Given the description of an element on the screen output the (x, y) to click on. 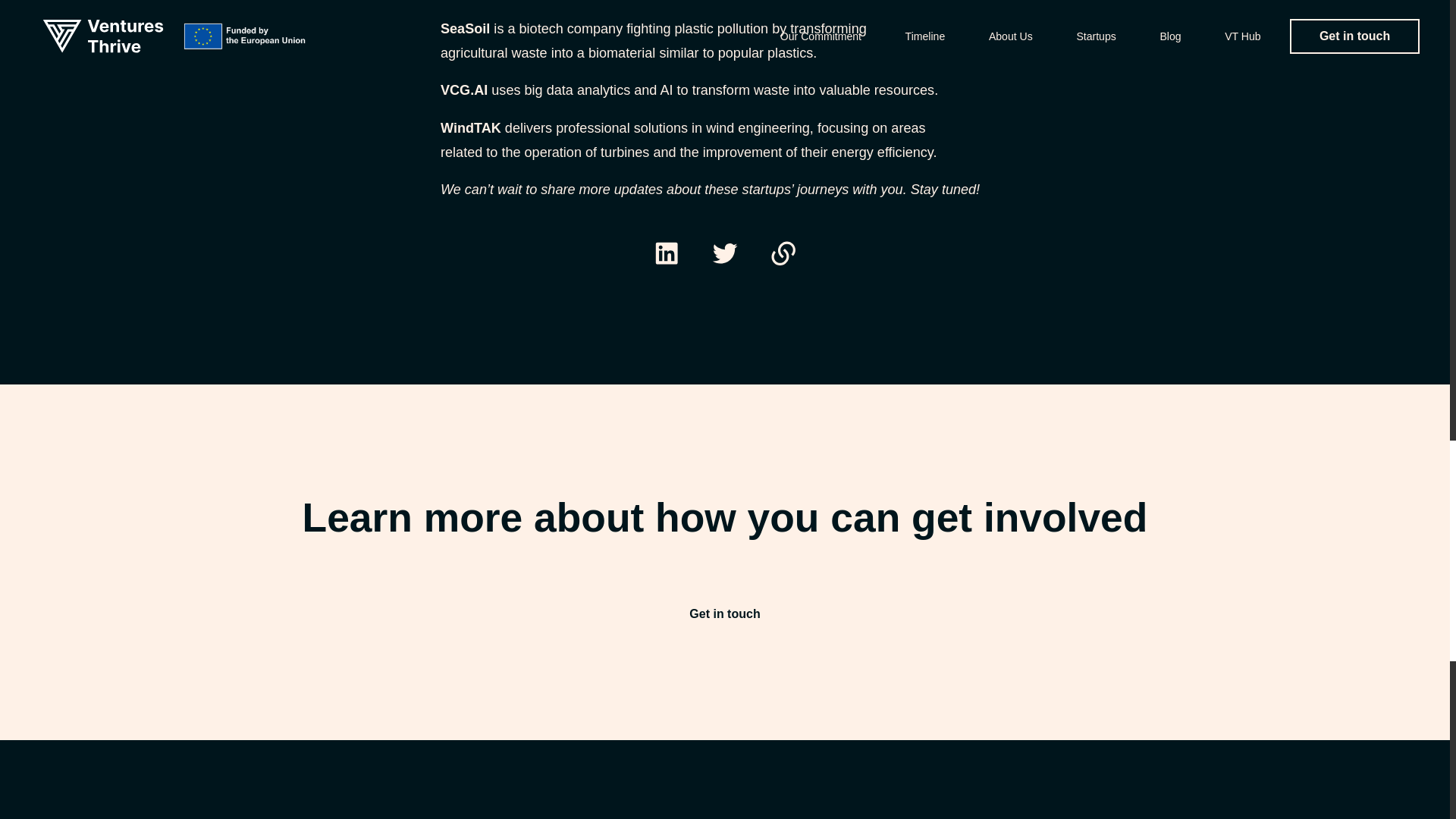
WindTAK (470, 127)
Get in touch (725, 614)
VCG.AI (464, 89)
SeaSoil (465, 28)
